Given the description of an element on the screen output the (x, y) to click on. 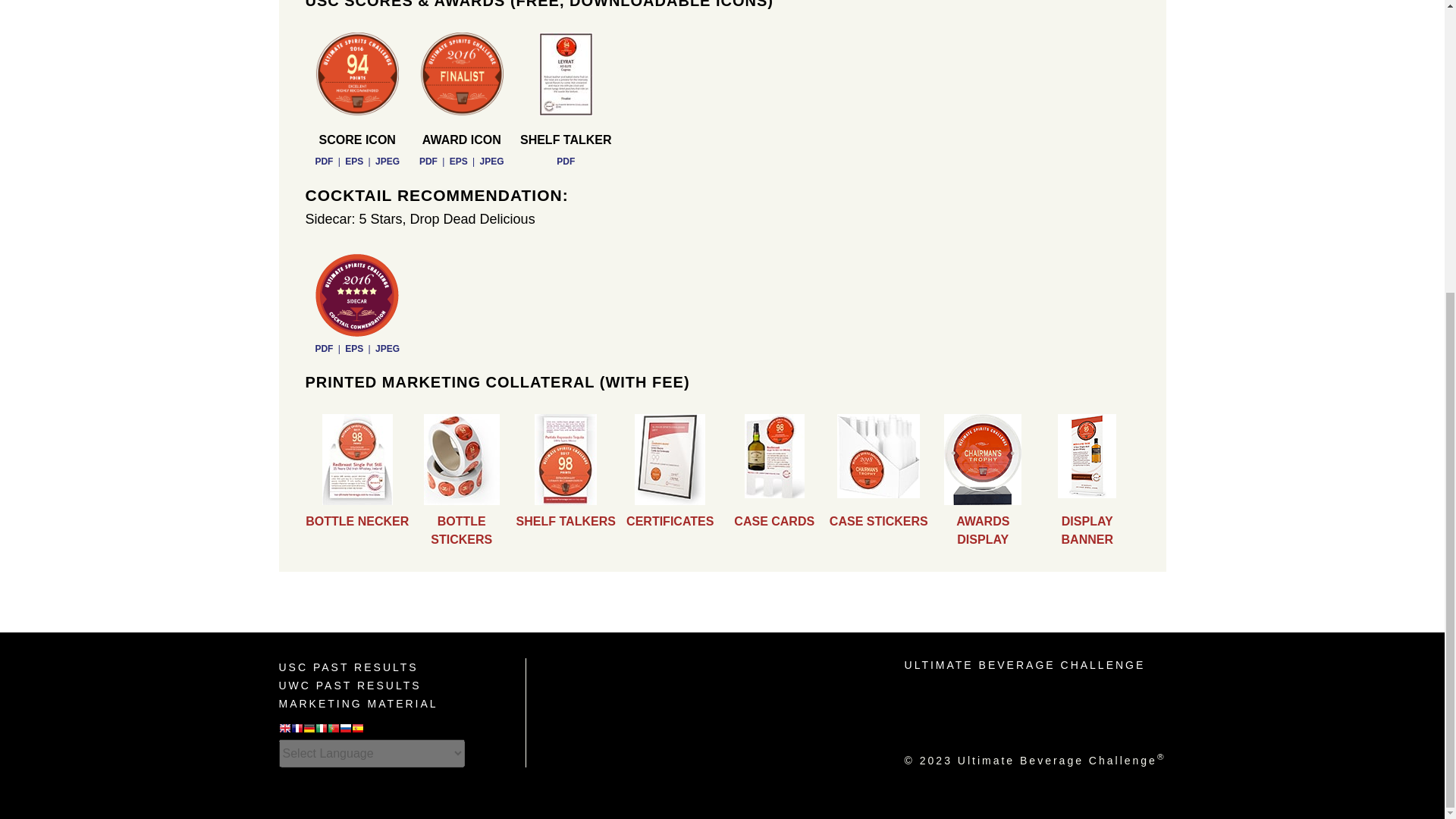
PDF (565, 161)
JPEG (386, 161)
Portuguese (333, 729)
French (296, 729)
BOTTLE NECKER (357, 521)
English (285, 729)
CASE CARDS (773, 521)
Russian (345, 729)
SHELF TALKERS (565, 521)
CASE STICKERS (878, 521)
JPEG (386, 348)
PDF (323, 348)
BOTTLE STICKERS (461, 530)
EPS (353, 348)
CERTIFICATES (669, 521)
